Given the description of an element on the screen output the (x, y) to click on. 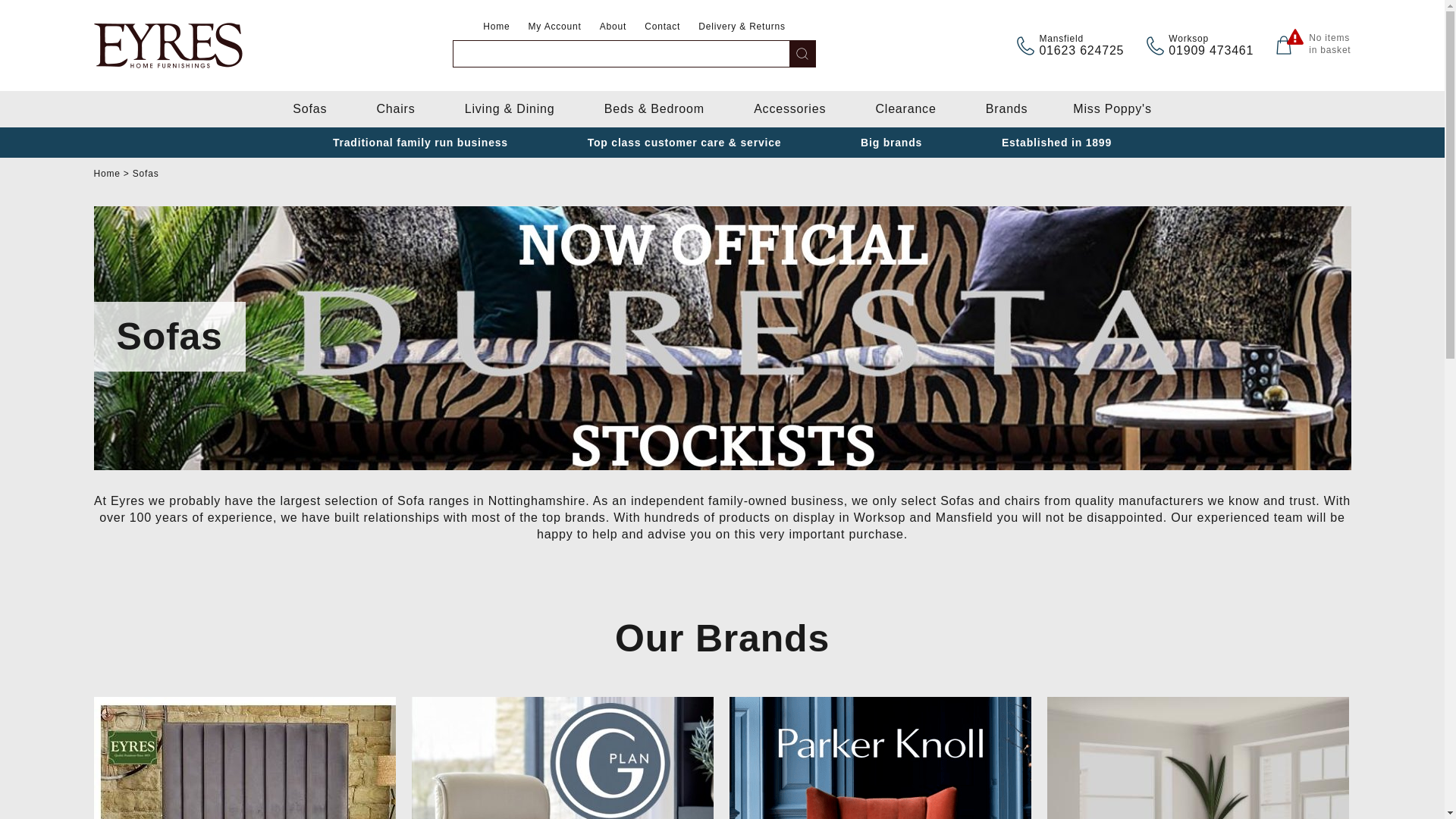
Home (496, 26)
Contact (662, 26)
My Account (555, 26)
Sofas (1327, 43)
About (309, 108)
